Given the description of an element on the screen output the (x, y) to click on. 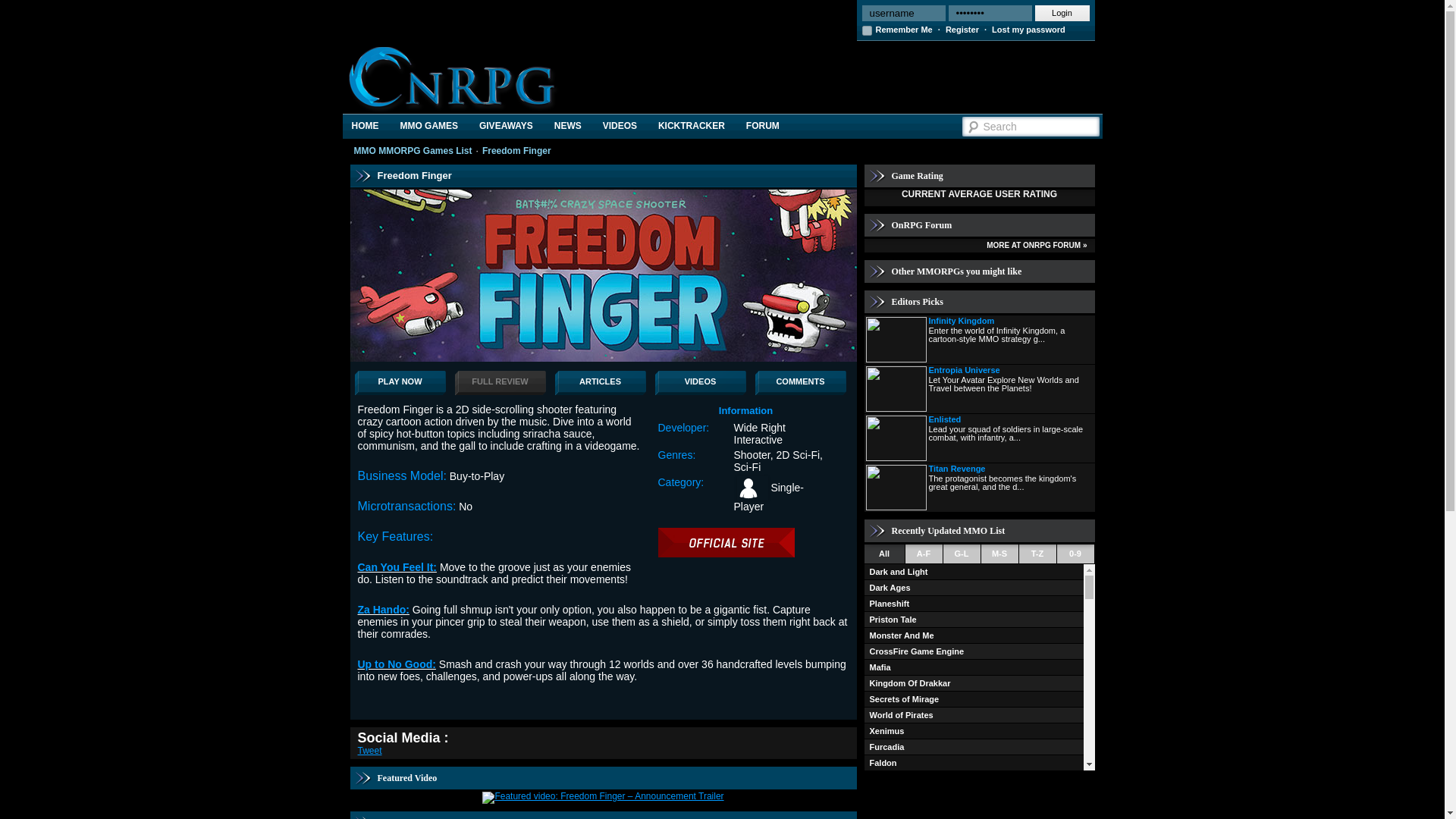
Kickstarter Games, News, and Updates (691, 125)
FULL REVIEW (500, 382)
ARTICLES (600, 382)
VIDEOS (700, 382)
Go to Freedom Finger. (516, 150)
KICKTRACKER (691, 125)
NEWS (567, 125)
Tweet (369, 750)
MMO GAMES (428, 125)
VIDEOS (620, 125)
